Given the description of an element on the screen output the (x, y) to click on. 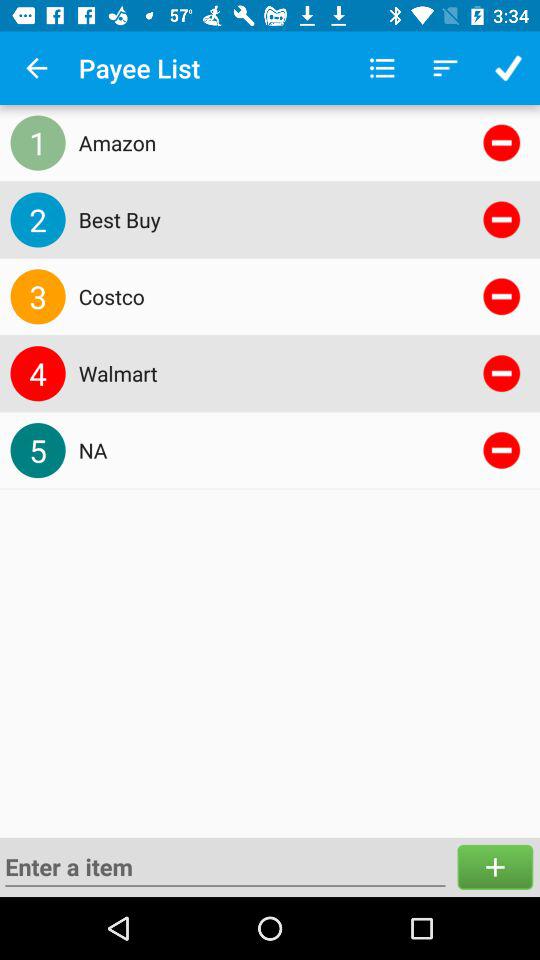
turn on icon above 1 (36, 68)
